Given the description of an element on the screen output the (x, y) to click on. 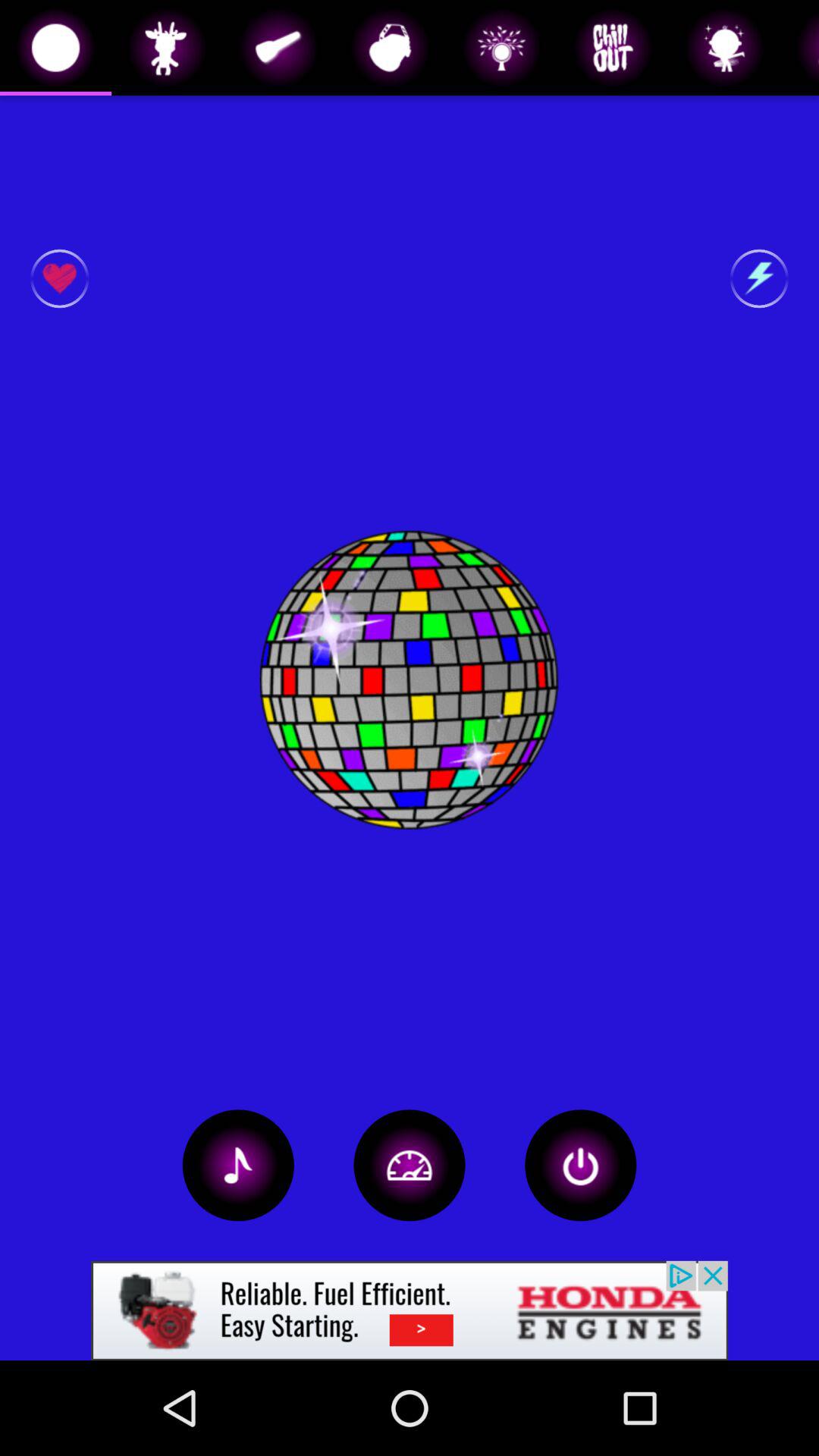
toggle an advertisements (409, 1310)
